Given the description of an element on the screen output the (x, y) to click on. 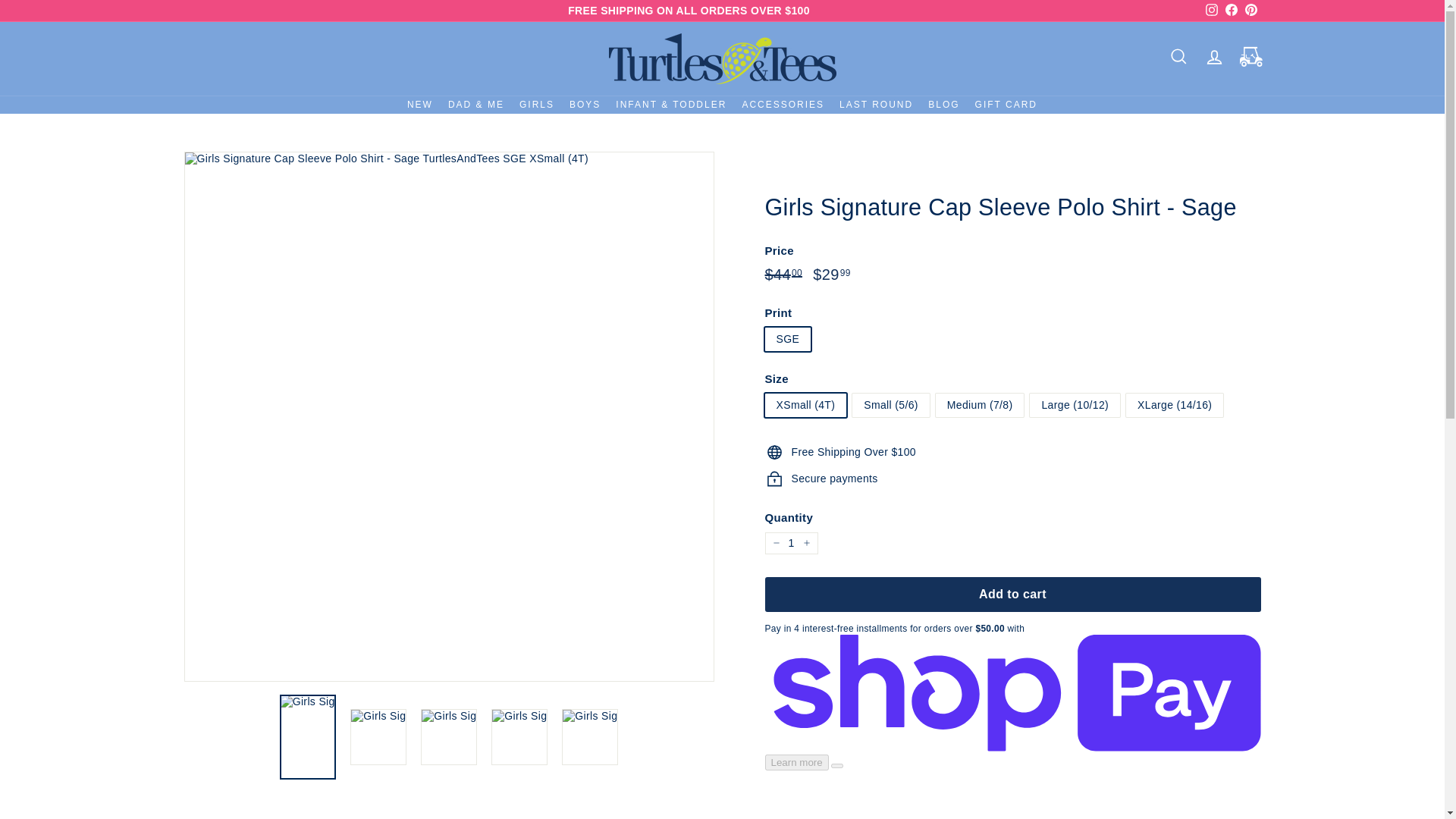
Facebook (1230, 11)
1 (790, 543)
NEW (419, 104)
GIRLS (537, 104)
TurtlesAndTees on Facebook (1230, 11)
TurtlesAndTees on Instagram (1211, 11)
Pinterest (1250, 11)
TurtlesAndTees on Pinterest (1250, 11)
Instagram (1211, 11)
